Given the description of an element on the screen output the (x, y) to click on. 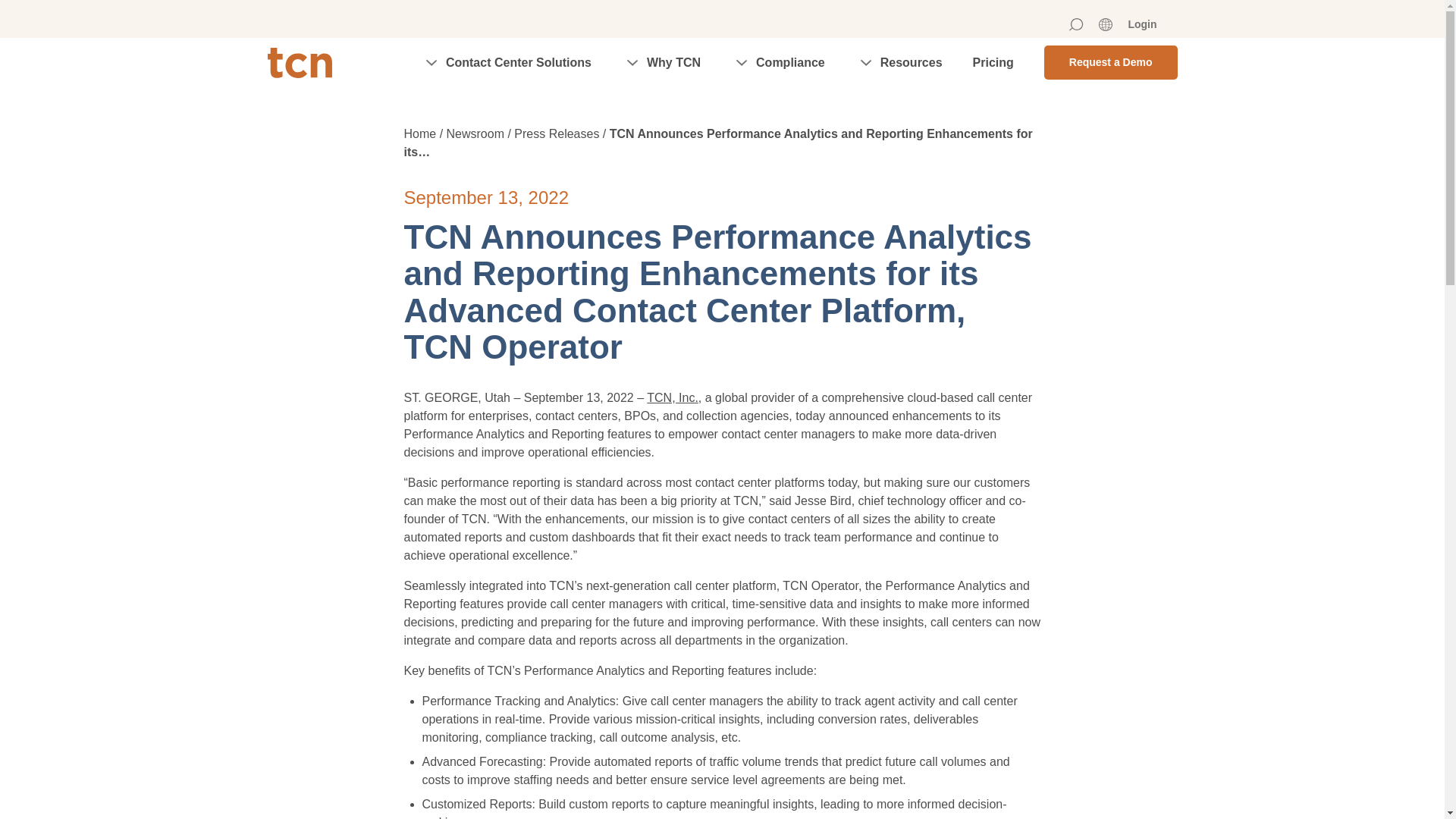
Region (1105, 24)
Why TCN (661, 61)
TCN (298, 61)
Login (1141, 24)
Contact Center Solutions (506, 61)
